Given the description of an element on the screen output the (x, y) to click on. 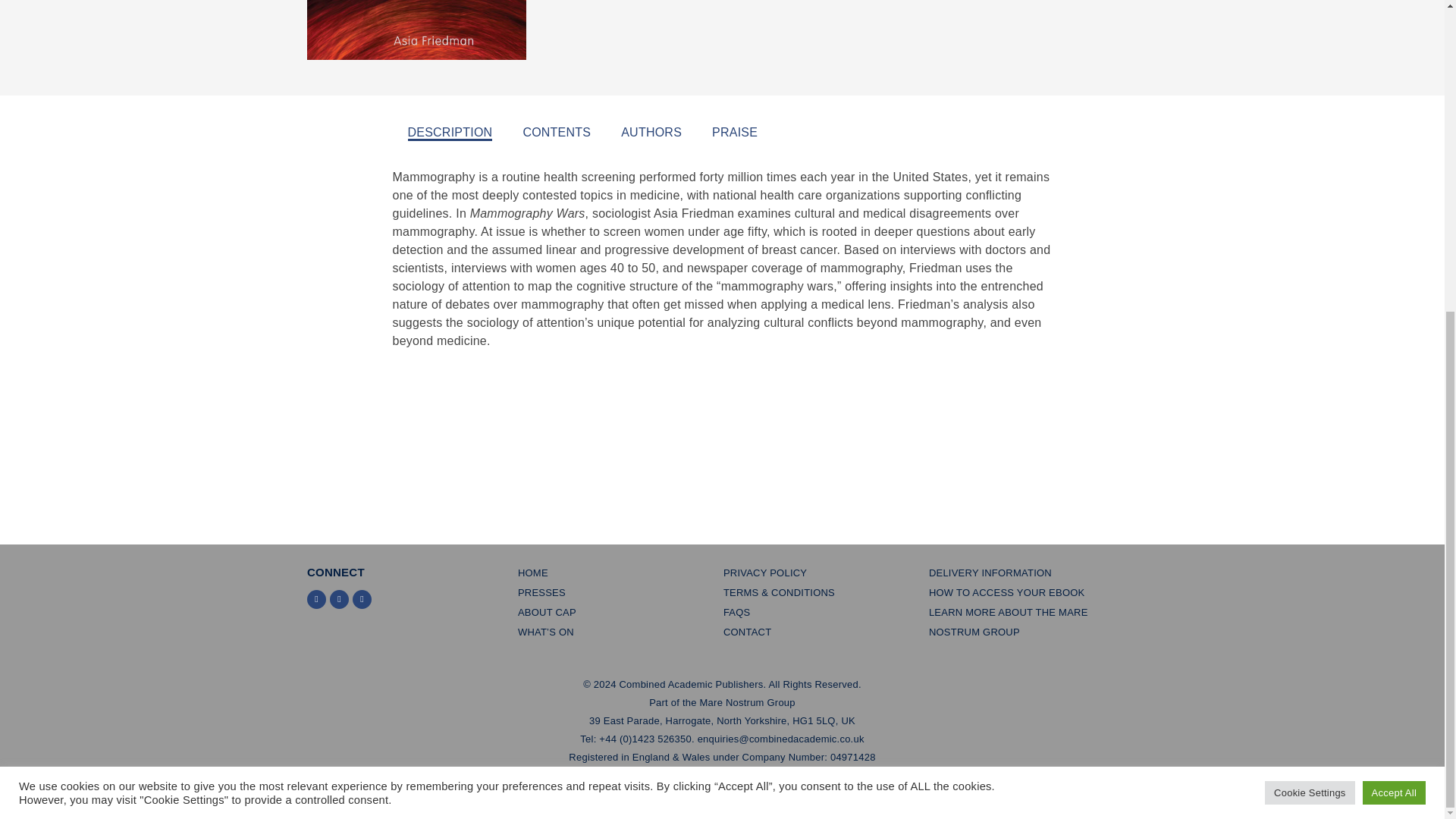
Follow us on Facebook (339, 599)
Follow us on Instagram (361, 599)
